Given the description of an element on the screen output the (x, y) to click on. 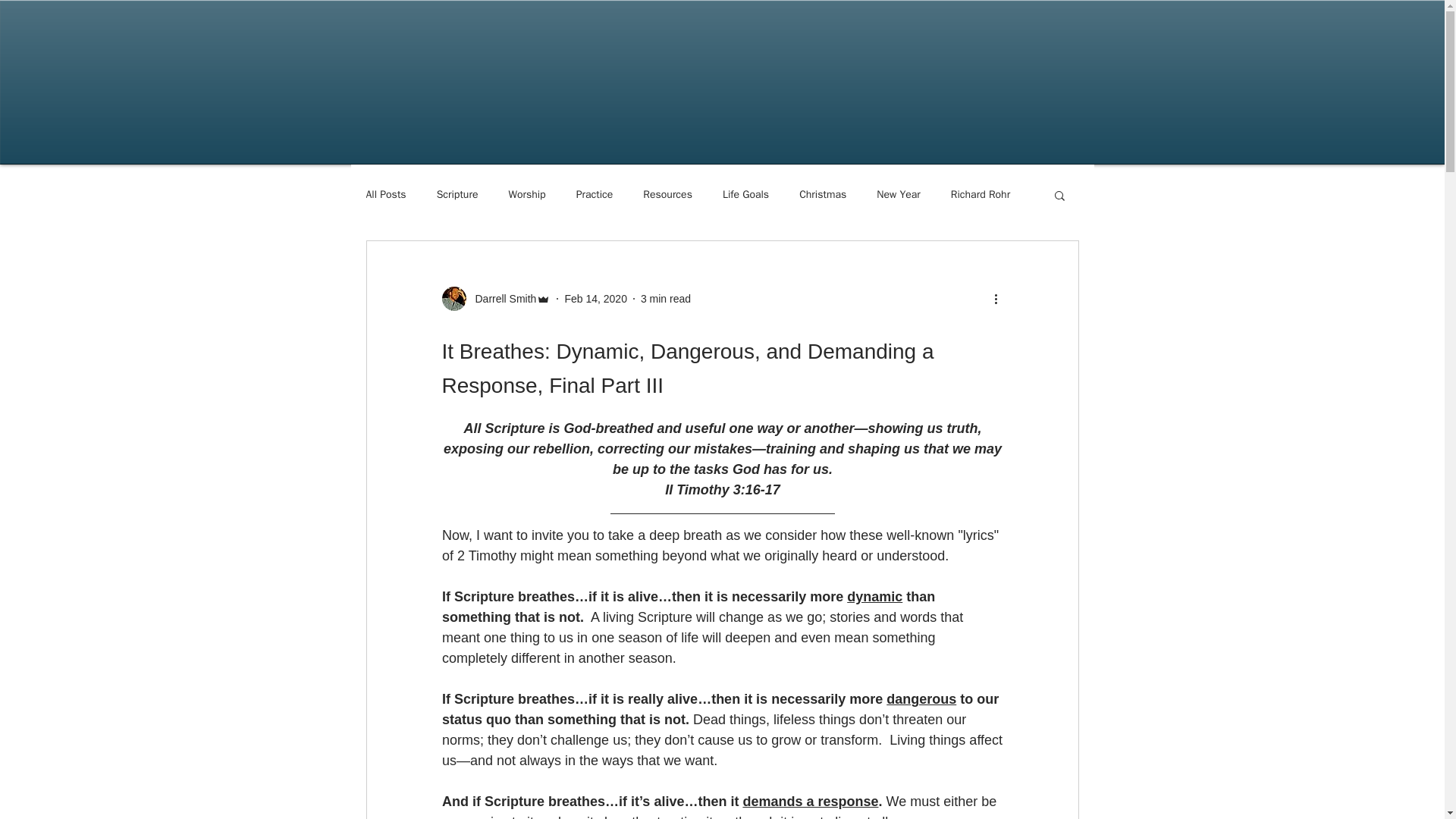
Darrell Smith (495, 298)
All Posts (385, 194)
Christmas (822, 194)
3 min read (665, 298)
Darrell Smith (500, 299)
New Year (898, 194)
Life Goals (745, 194)
Resources (668, 194)
Worship (526, 194)
Practice (594, 194)
Richard Rohr (980, 194)
Scripture (457, 194)
Feb 14, 2020 (595, 298)
